Given the description of an element on the screen output the (x, y) to click on. 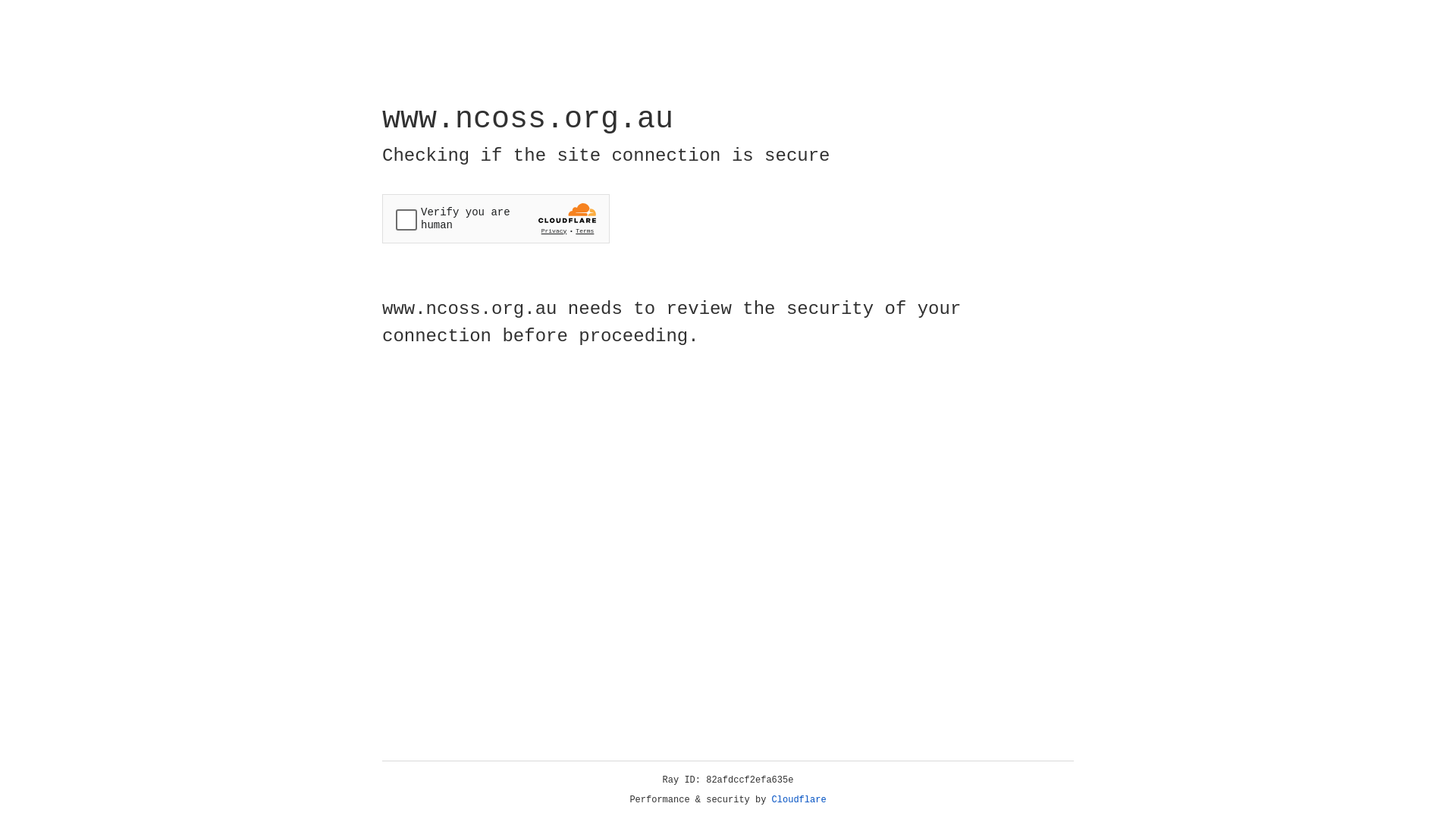
Cloudflare Element type: text (798, 799)
Widget containing a Cloudflare security challenge Element type: hover (495, 218)
